Given the description of an element on the screen output the (x, y) to click on. 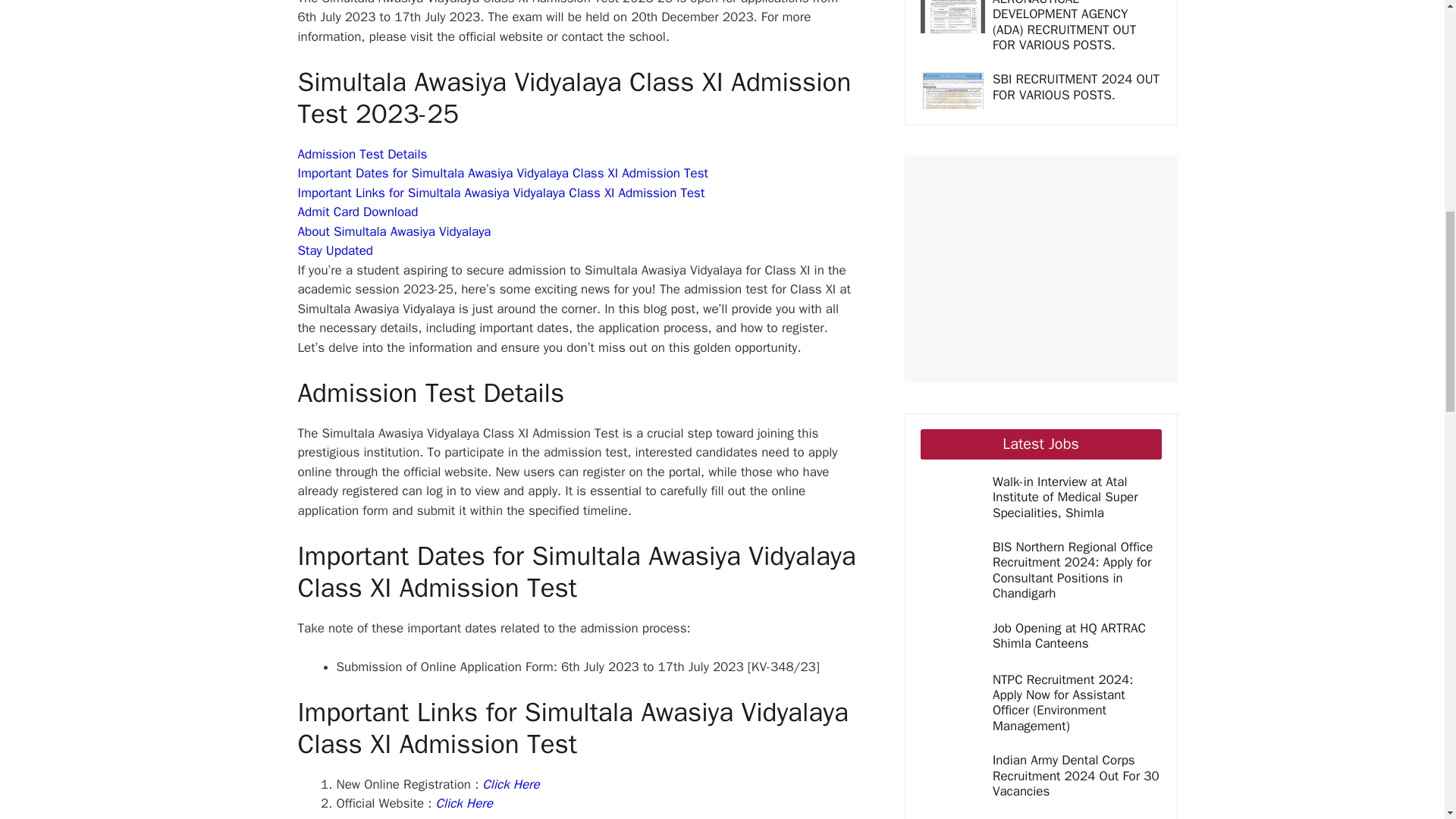
Click Here (464, 803)
Admission Test Details (361, 154)
Stay Updated (334, 250)
About Simultala Awasiya Vidyalaya (393, 231)
Admit Card Download (357, 211)
Click Here (509, 784)
